Given the description of an element on the screen output the (x, y) to click on. 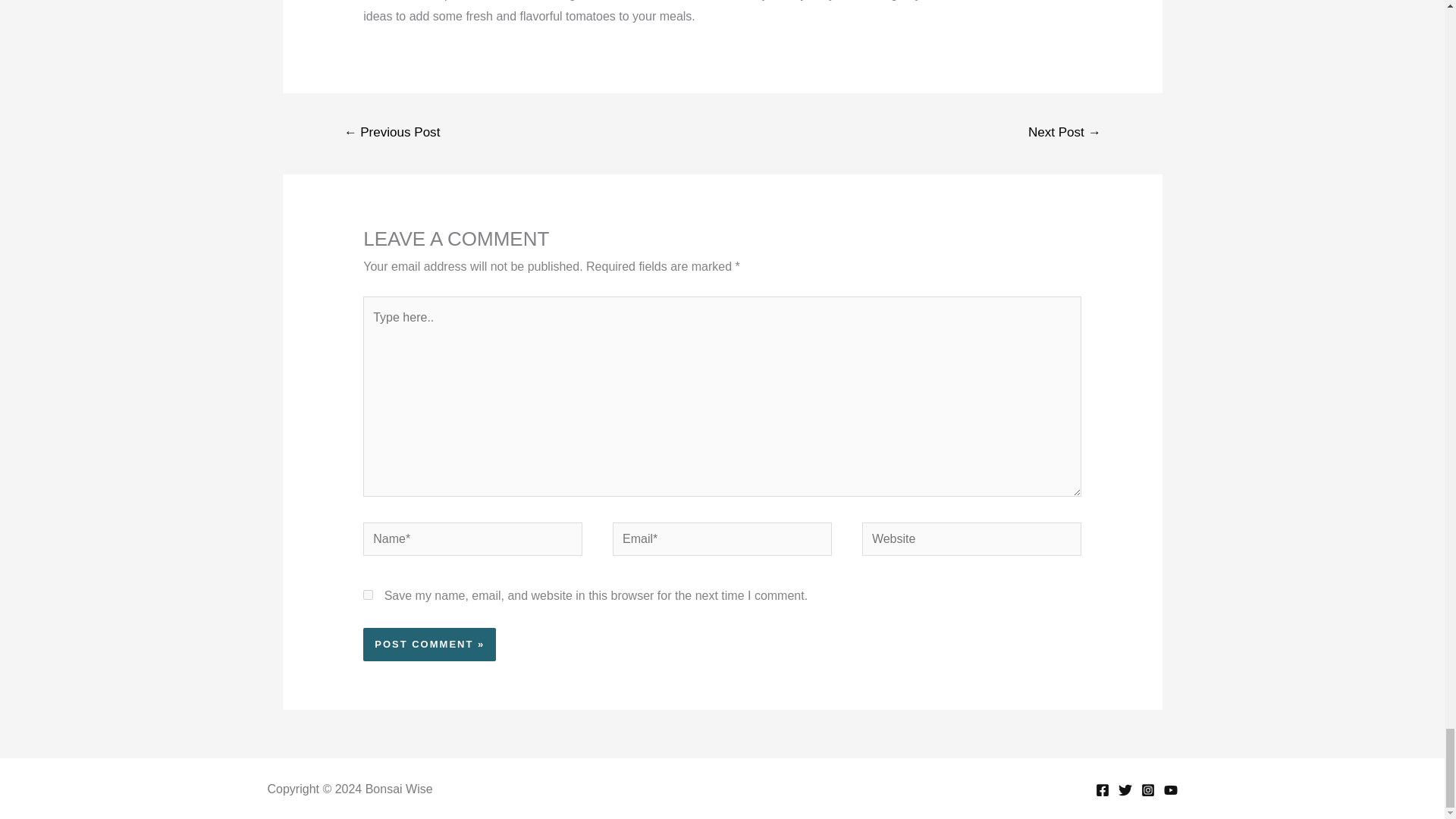
yes (367, 594)
